Given the description of an element on the screen output the (x, y) to click on. 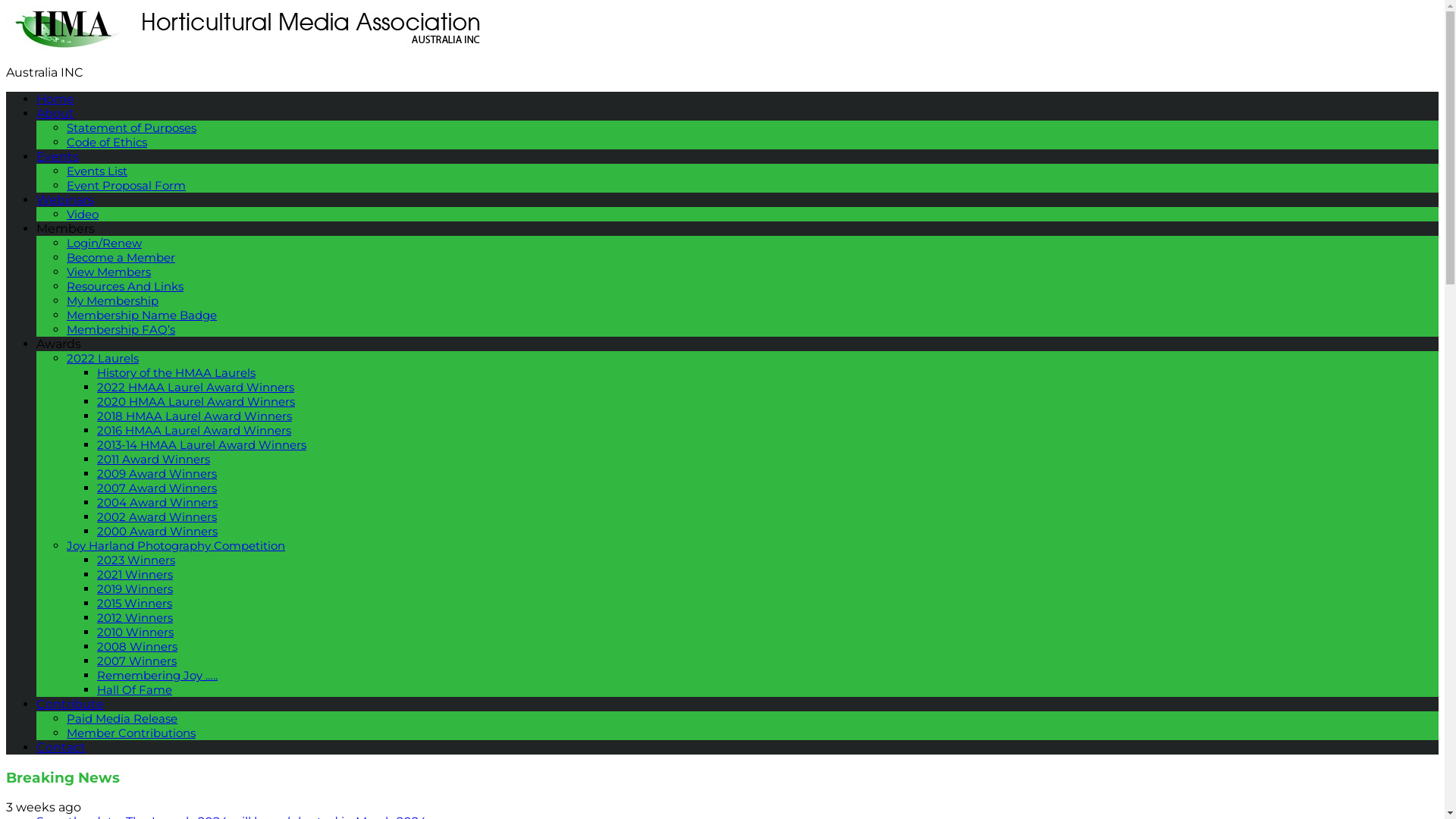
2002 Award Winners Element type: text (156, 516)
2000 Award Winners Element type: text (157, 531)
Code of Ethics Element type: text (106, 141)
Webinars Element type: text (65, 199)
2022 Laurels Element type: text (102, 358)
Become a Member Element type: text (120, 257)
2007 Winners Element type: text (136, 660)
Video Element type: text (82, 214)
View Members Element type: text (108, 271)
Event Proposal Form Element type: text (125, 185)
Paid Media Release Element type: text (121, 718)
2004 Award Winners Element type: text (157, 502)
Membership Name Badge Element type: text (141, 314)
My Membership Element type: text (112, 300)
2022 HMAA Laurel Award Winners Element type: text (195, 386)
Resources And Links Element type: text (124, 286)
Statement of Purposes Element type: text (131, 127)
2018 HMAA Laurel Award Winners Element type: text (194, 415)
Events List Element type: text (96, 170)
Events Element type: text (57, 156)
2009 Award Winners Element type: text (156, 473)
Contribute Element type: text (69, 703)
2008 Winners Element type: text (137, 646)
2011 Award Winners Element type: text (153, 458)
2013-14 HMAA Laurel Award Winners Element type: text (201, 444)
2007 Award Winners Element type: text (156, 487)
2016 HMAA Laurel Award Winners Element type: text (194, 430)
Hall Of Fame Element type: text (134, 689)
2021 Winners Element type: text (134, 574)
Member Contributions Element type: text (130, 732)
Home Element type: text (55, 98)
2015 Winners Element type: text (134, 603)
Awards Element type: text (58, 343)
Login/Renew Element type: text (103, 242)
Joy Harland Photography Competition Element type: text (175, 545)
2020 HMAA Laurel Award Winners Element type: text (195, 401)
2010 Winners Element type: text (135, 631)
History of the HMAA Laurels Element type: text (176, 372)
2023 Winners Element type: text (136, 559)
Members Element type: text (65, 228)
2012 Winners Element type: text (134, 617)
About Element type: text (55, 113)
2019 Winners Element type: text (134, 588)
Contact Element type: text (60, 747)
